Given the description of an element on the screen output the (x, y) to click on. 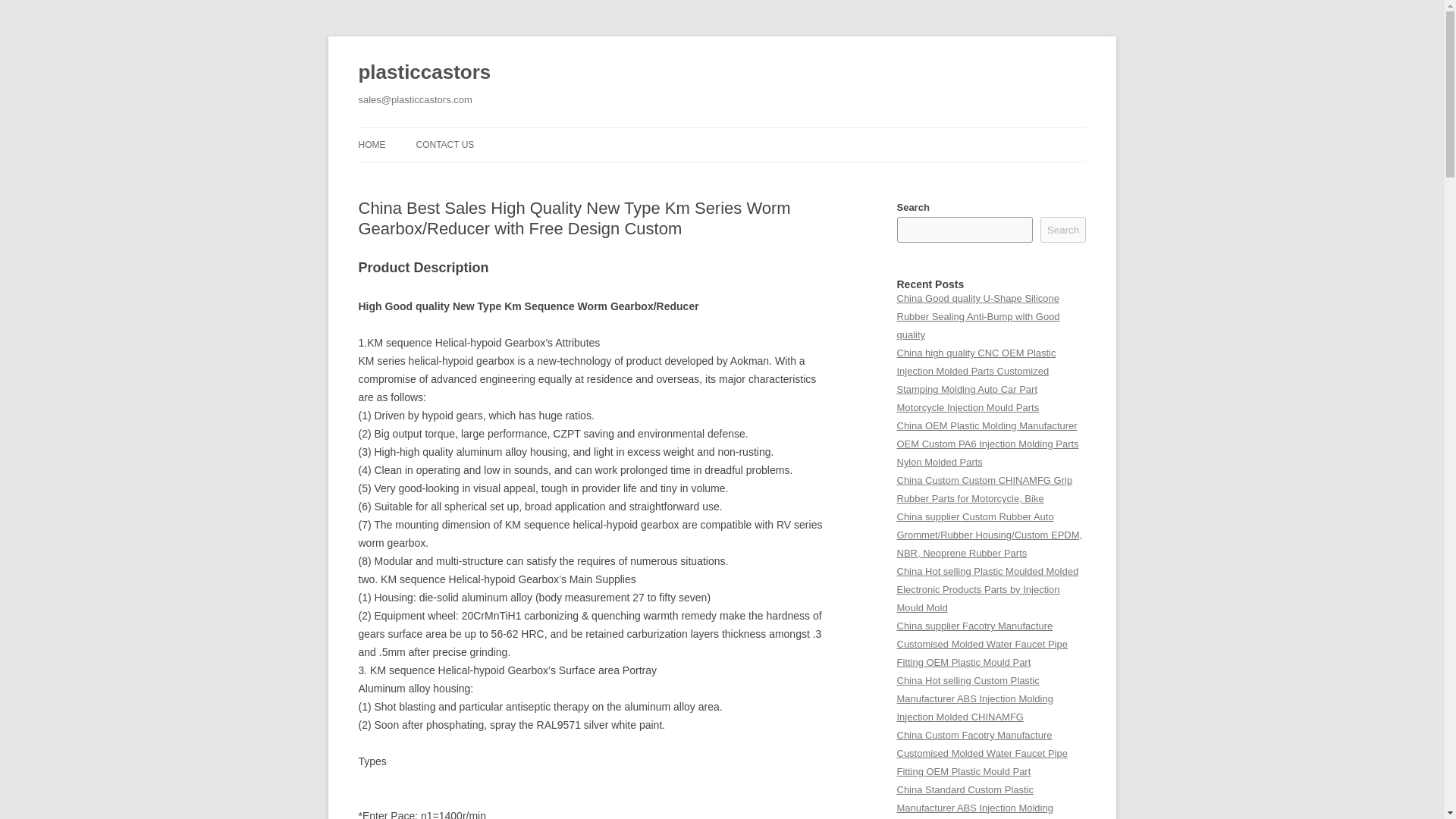
plasticcastors (424, 72)
CONTACT US (444, 144)
Search (1063, 229)
